Given the description of an element on the screen output the (x, y) to click on. 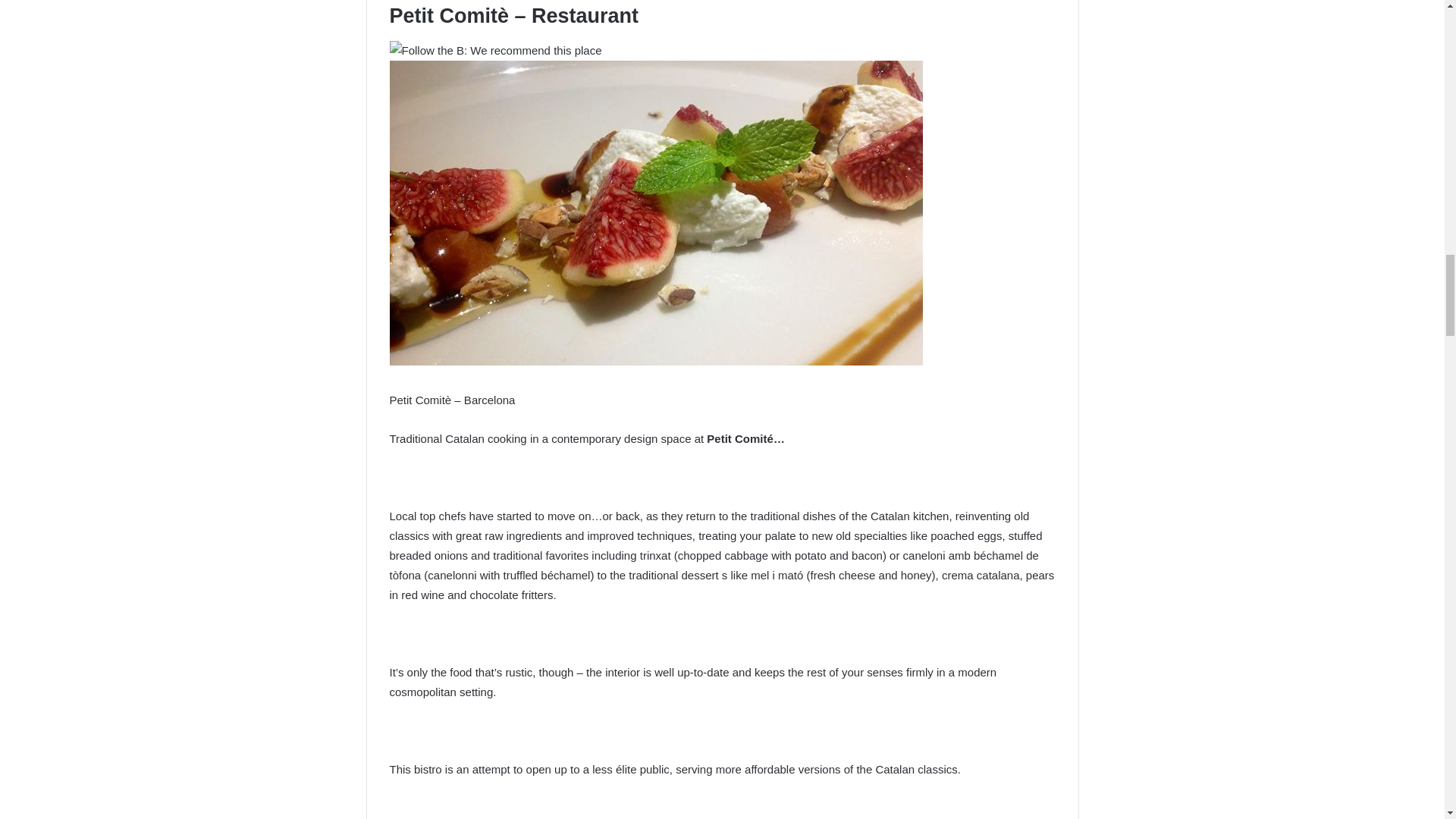
Follow the B: We recommend this place (496, 50)
